Given the description of an element on the screen output the (x, y) to click on. 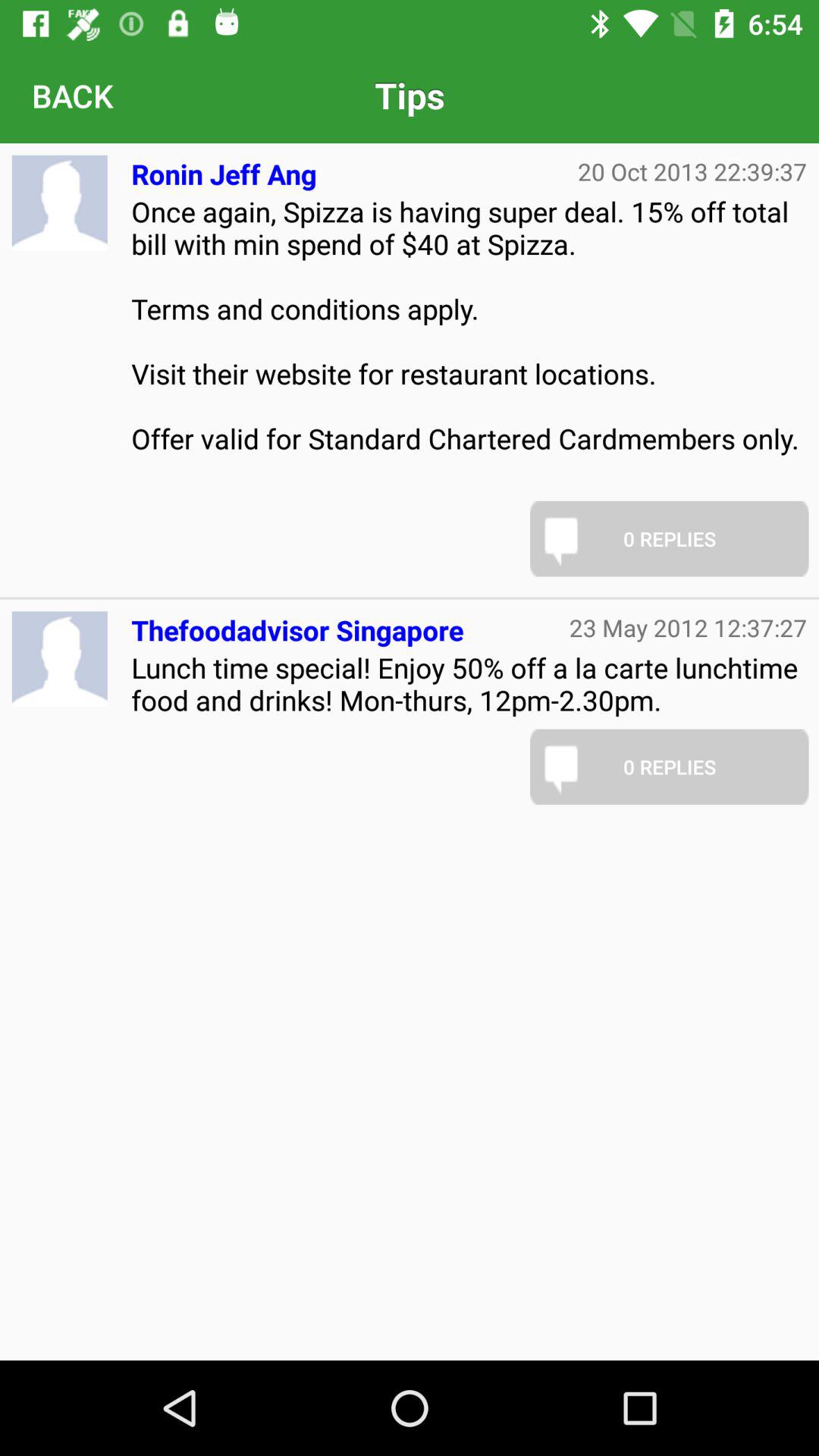
turn off lunch time special (469, 683)
